Given the description of an element on the screen output the (x, y) to click on. 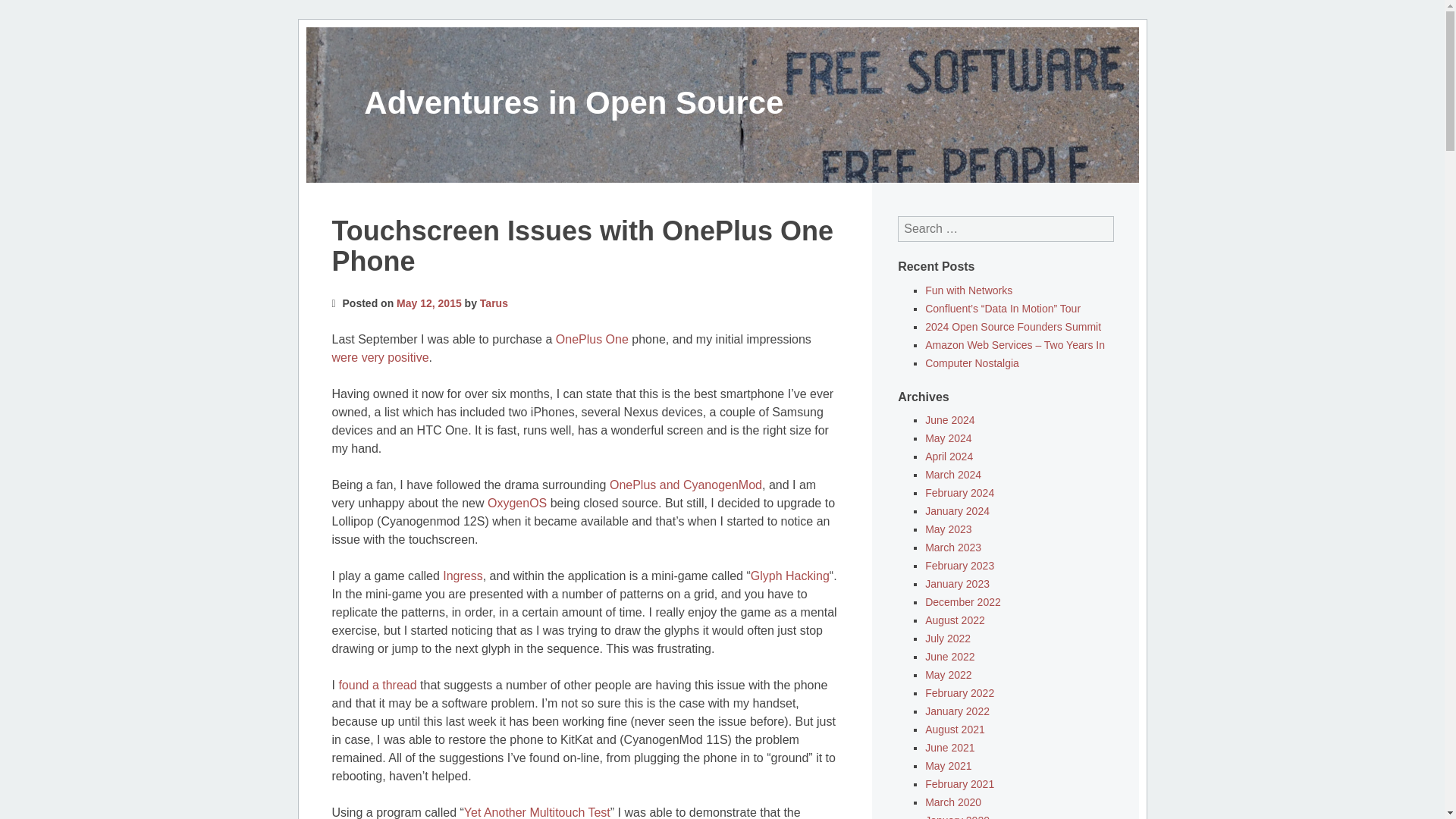
June 2022 (949, 656)
May 2022 (947, 674)
2024 Open Source Founders Summit (1012, 326)
May 2024 (947, 438)
Yet Another Multitouch Test (537, 812)
OnePlus and CyanogenMod (685, 484)
OxygenOS (517, 502)
April 2024 (948, 456)
February 2023 (959, 565)
March 2023 (952, 547)
found a thread (376, 684)
OnePlus One (592, 338)
Adventures in Open Source (573, 102)
Glyph Hacking (790, 575)
Tarus (494, 303)
